Given the description of an element on the screen output the (x, y) to click on. 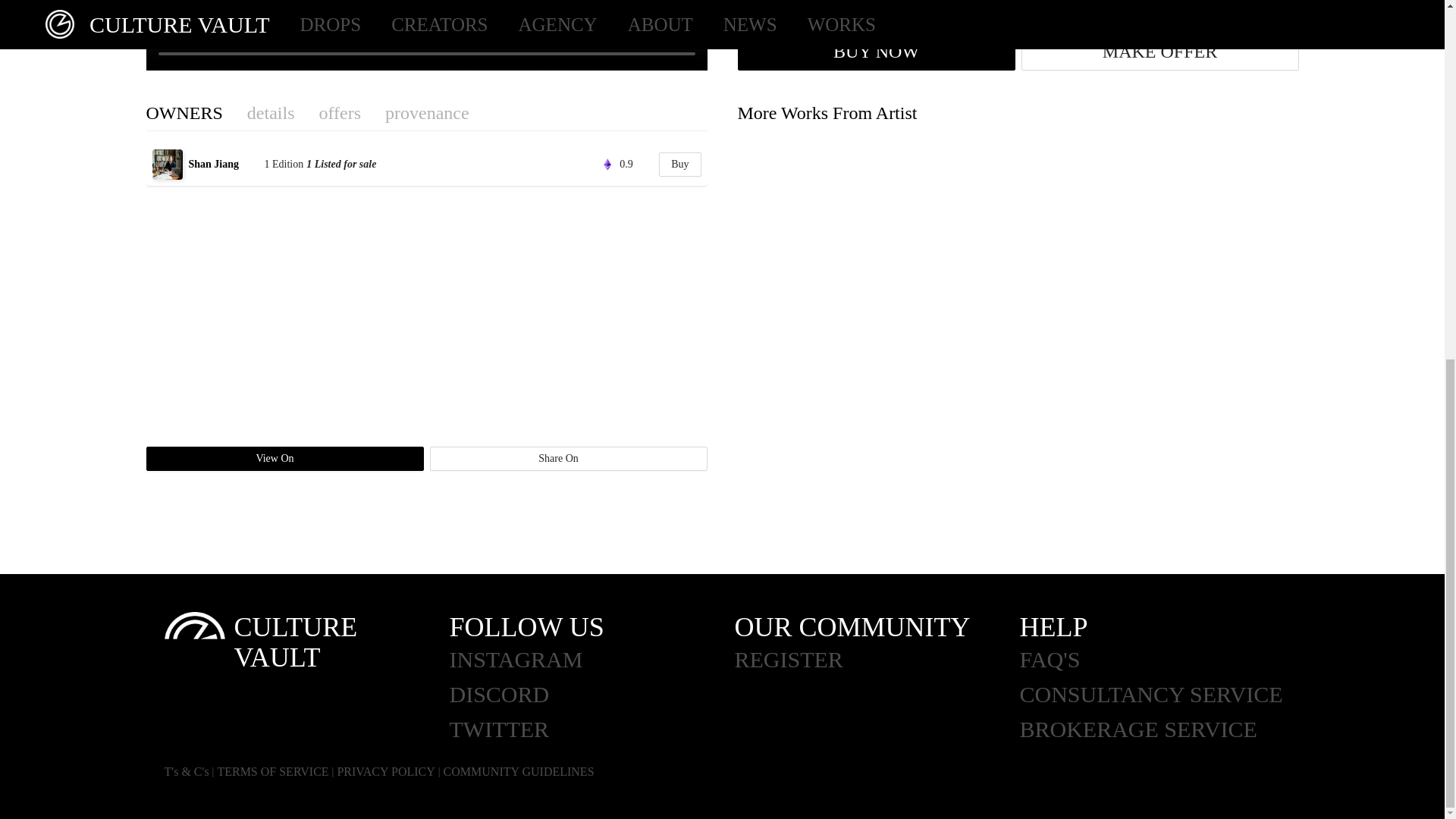
BUY NOW (875, 51)
MAKE OFFER (1159, 51)
Share On (567, 458)
DISCORD (590, 694)
View On (284, 458)
Shan Jiang (223, 164)
TERMS OF SERVICE (272, 771)
INSTAGRAM (590, 659)
REGISTER (876, 659)
PRIVACY POLICY (384, 771)
BROKERAGE SERVICE (1161, 728)
COMMUNITY GUIDELINES (519, 771)
CONSULTANCY SERVICE (1161, 694)
TWITTER (590, 728)
Buy (679, 164)
